Given the description of an element on the screen output the (x, y) to click on. 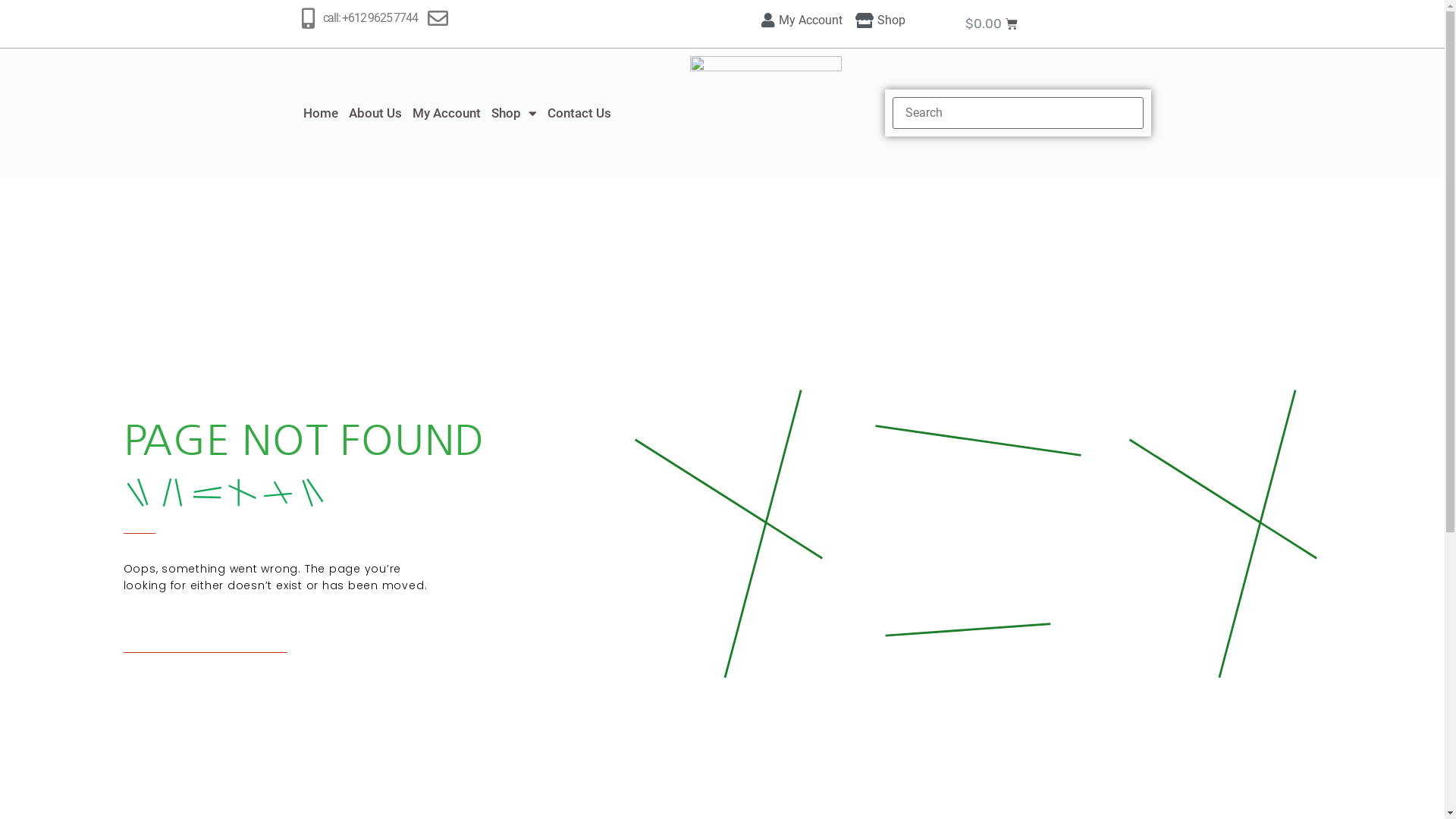
Home Element type: text (319, 112)
$0.00 Element type: text (991, 23)
About Us Element type: text (374, 112)
Contact Us Element type: text (578, 112)
My Account Element type: text (445, 112)
BACK TO HOMEPAGE Element type: text (204, 635)
Shop Element type: text (513, 112)
call: +612 9625 7744 Element type: text (370, 17)
Shop Element type: text (878, 20)
My Account Element type: text (798, 20)
